Given the description of an element on the screen output the (x, y) to click on. 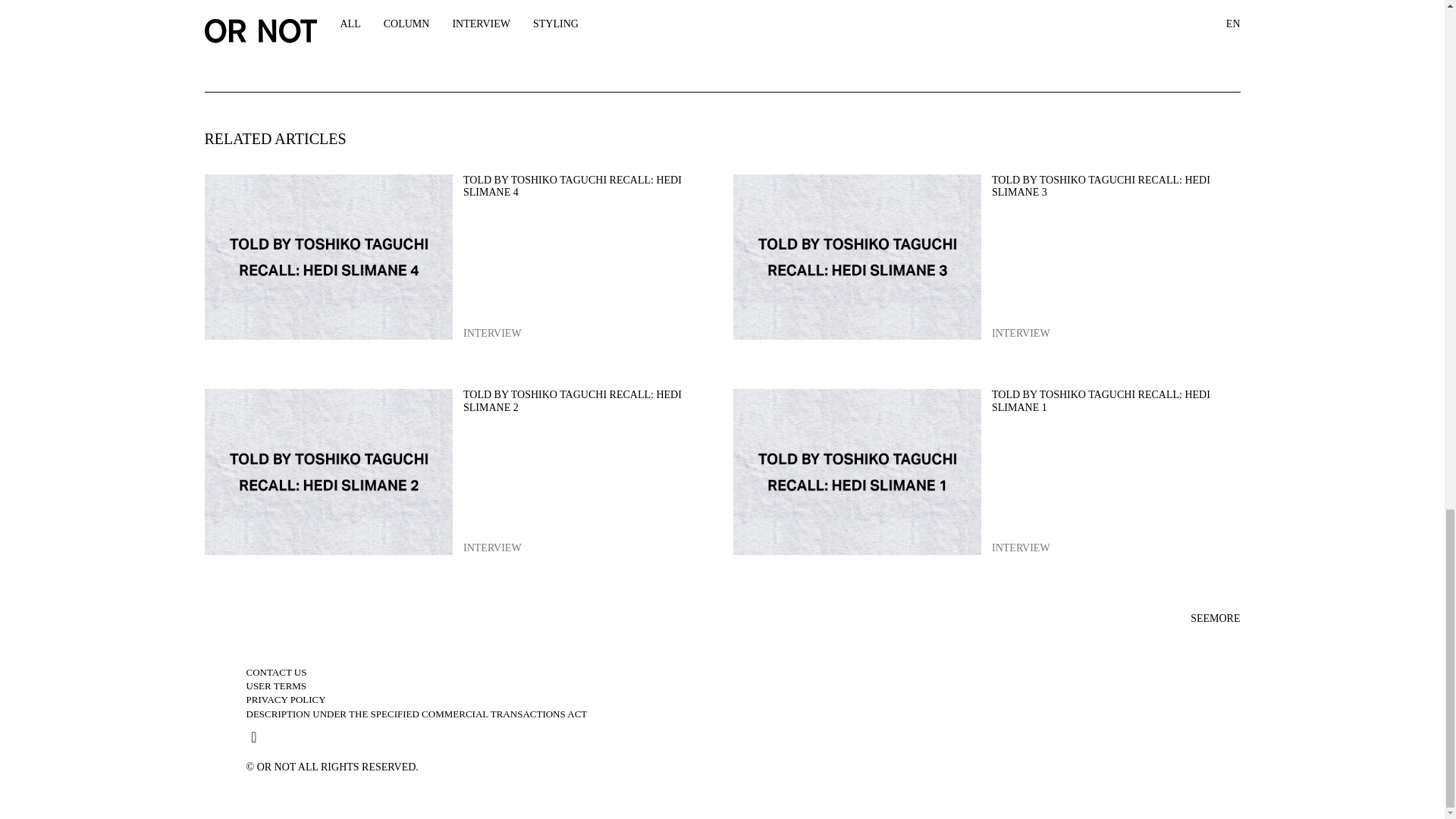
PRIVACY POLICY (285, 699)
SEEMORE (1215, 618)
USER TERMS (987, 472)
DESCRIPTION UNDER THE SPECIFIED COMMERCIAL TRANSACTIONS ACT (275, 685)
CONTACT US (987, 258)
